Given the description of an element on the screen output the (x, y) to click on. 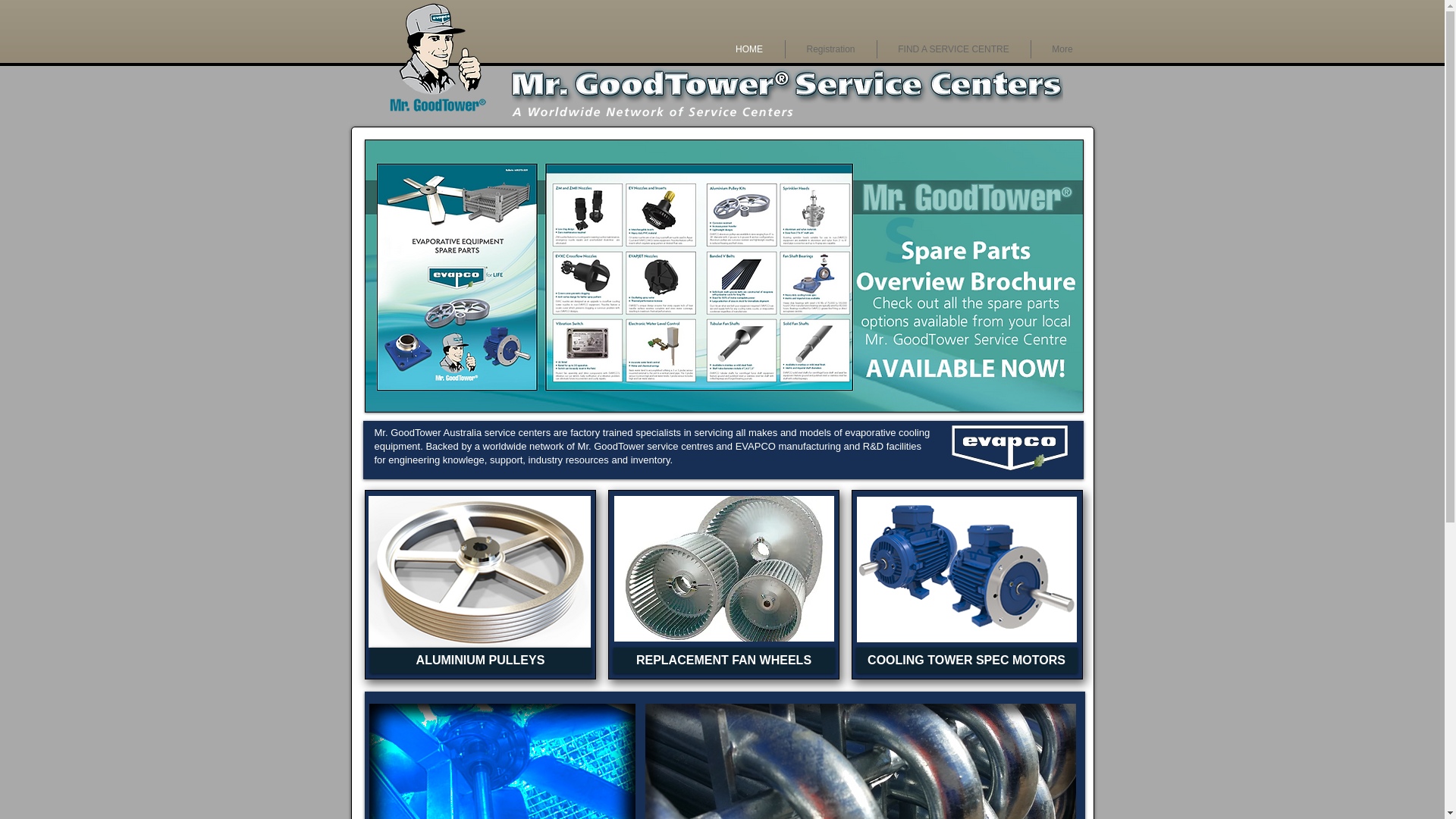
FIND A SERVICE CENTRE Element type: text (952, 49)
Registration Element type: text (830, 49)
HOME Element type: text (749, 49)
REPLACEMENT FAN WHEELS Element type: text (723, 660)
COOLING TOWER SPEC MOTORS Element type: text (965, 660)
ALUMINIUM PULLEYS Element type: text (480, 660)
Wheels.jpg Element type: hover (724, 568)
